Given the description of an element on the screen output the (x, y) to click on. 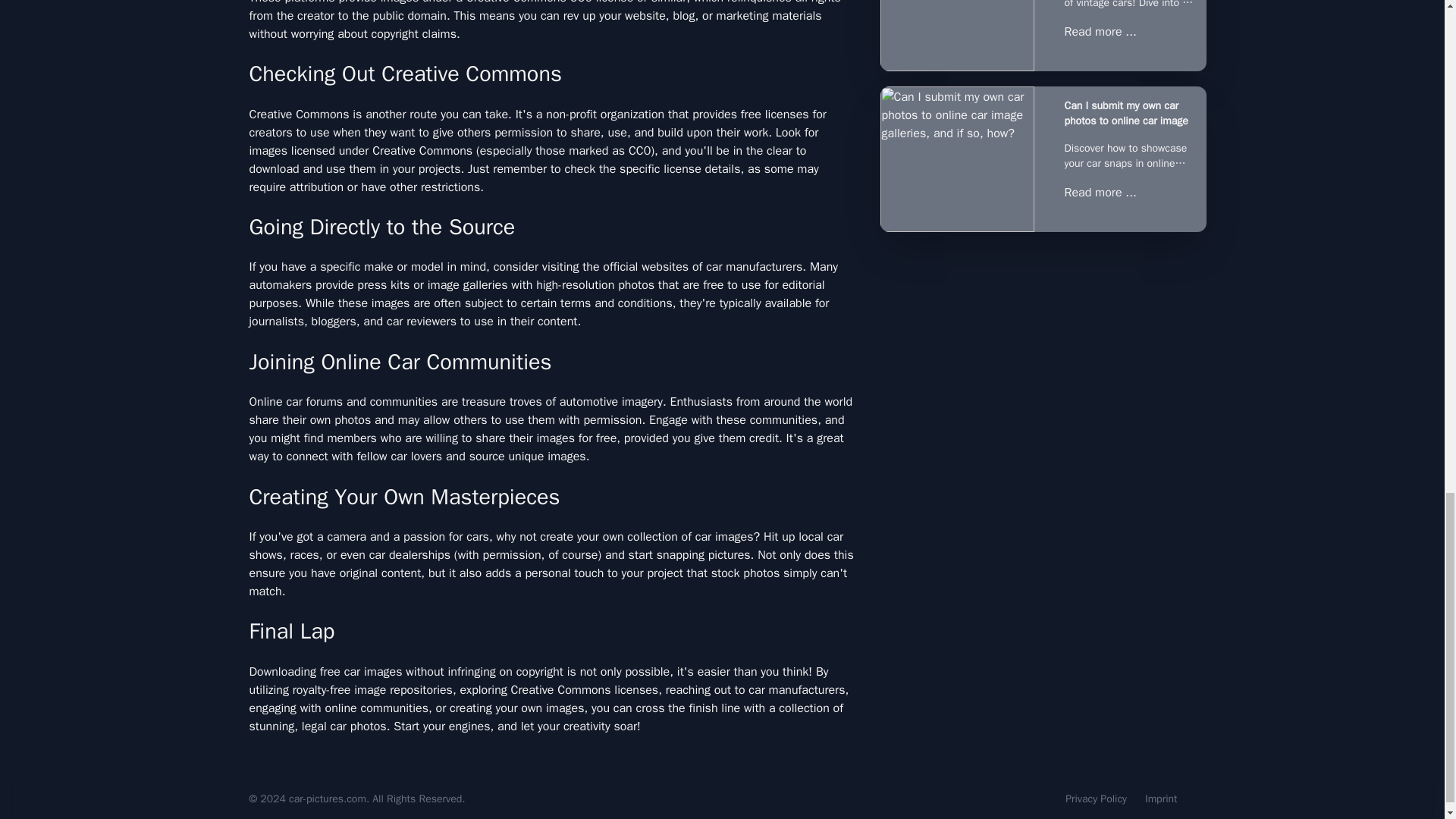
car-pictures.com (327, 798)
Imprint (1160, 798)
Privacy Policy (1095, 798)
